Given the description of an element on the screen output the (x, y) to click on. 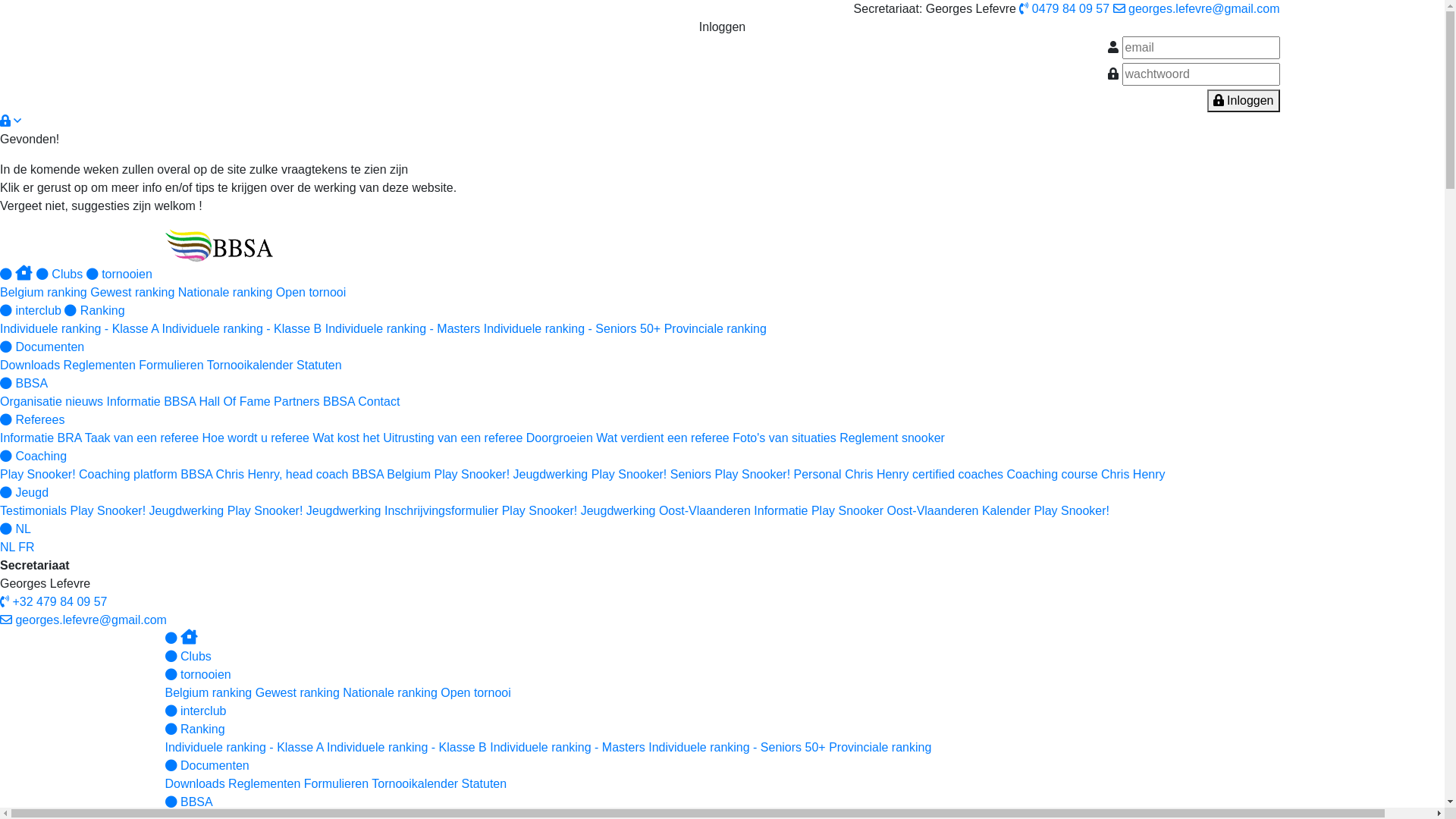
interclub Element type: text (195, 710)
Nationale ranking Element type: text (389, 692)
Statuten Element type: text (319, 364)
Statuten Element type: text (484, 783)
Clubs Element type: text (59, 273)
Wat kost het Element type: text (345, 437)
Play Snooker! Jeugdwerking Element type: text (510, 473)
Individuele ranking - Klasse B Element type: text (406, 746)
Chris Henry, head coach BBSA Belgium Element type: text (323, 473)
+32 479 84 09 57 Element type: text (53, 601)
Play Snooker! Personal Element type: text (777, 473)
BBSA Element type: text (23, 382)
tornooien Element type: text (198, 674)
Open tornooi Element type: text (475, 692)
0479 84 09 57 Element type: text (1064, 8)
Gewest ranking Element type: text (132, 291)
Foto's van situaties Element type: text (783, 437)
Documenten Element type: text (42, 346)
Downloads Element type: text (29, 364)
Reglement snooker Element type: text (891, 437)
Hoe wordt u referee Element type: text (255, 437)
Reglementen Element type: text (99, 364)
NL Element type: text (7, 546)
BBSA Element type: text (189, 801)
Wat verdient een referee Element type: text (664, 437)
Individuele ranking - Masters Element type: text (402, 328)
Individuele ranking - Klasse B Element type: text (241, 328)
Coaching Element type: text (33, 455)
NL Element type: text (15, 528)
Kalender Play Snooker! Element type: text (1045, 510)
georges.lefevre@gmail.com Element type: text (83, 619)
Gewest ranking Element type: text (297, 692)
Contact Element type: text (378, 401)
Doorgroeien Element type: text (559, 437)
Jeugd Element type: text (24, 492)
Ranking Element type: text (94, 310)
Informatie BRA Element type: text (40, 437)
Documenten Element type: text (207, 765)
Individuele ranking - Klasse A Element type: text (79, 328)
FR Element type: text (26, 546)
nieuws Element type: text (84, 401)
Provinciale ranking Element type: text (879, 746)
Tornooikalender Element type: text (250, 364)
Individuele ranking - Masters Element type: text (567, 746)
Downloads Element type: text (195, 783)
Nationale ranking Element type: text (225, 291)
Individuele ranking - Klasse A Element type: text (244, 746)
Inloggen Element type: text (1243, 100)
tornooien Element type: text (119, 273)
Belgium ranking Element type: text (43, 291)
Taak van een referee Element type: text (141, 437)
Informatie BBSA Element type: text (150, 401)
Formulieren Element type: text (170, 364)
Individuele ranking - Seniors 50+ Element type: text (736, 746)
Reglementen Element type: text (264, 783)
georges.lefevre@gmail.com Element type: text (1196, 8)
Organisatie Element type: text (31, 401)
Referees Element type: text (32, 419)
interclub Element type: text (30, 310)
Clubs Element type: text (188, 655)
Informatie Play Snooker Oost-Vlaanderen Element type: text (865, 510)
Coaching course Chris Henry Element type: text (1086, 473)
Partners BBSA Element type: text (313, 401)
Individuele ranking - Seniors 50+ Element type: text (571, 328)
Play Snooker! Jeugdwerking Element type: text (304, 510)
Open tornooi Element type: text (311, 291)
Hall Of Fame Element type: text (233, 401)
Ranking Element type: text (195, 728)
Testimonials Play Snooker! Jeugdwerking Element type: text (111, 510)
Uitrusting van een referee Element type: text (452, 437)
Belgium ranking Element type: text (208, 692)
Provinciale ranking Element type: text (715, 328)
Formulieren Element type: text (336, 783)
Play Snooker! Seniors Element type: text (651, 473)
Tornooikalender Element type: text (414, 783)
Play Snooker! Coaching platform BBSA Element type: text (106, 473)
Chris Henry certified coaches Element type: text (923, 473)
